Given the description of an element on the screen output the (x, y) to click on. 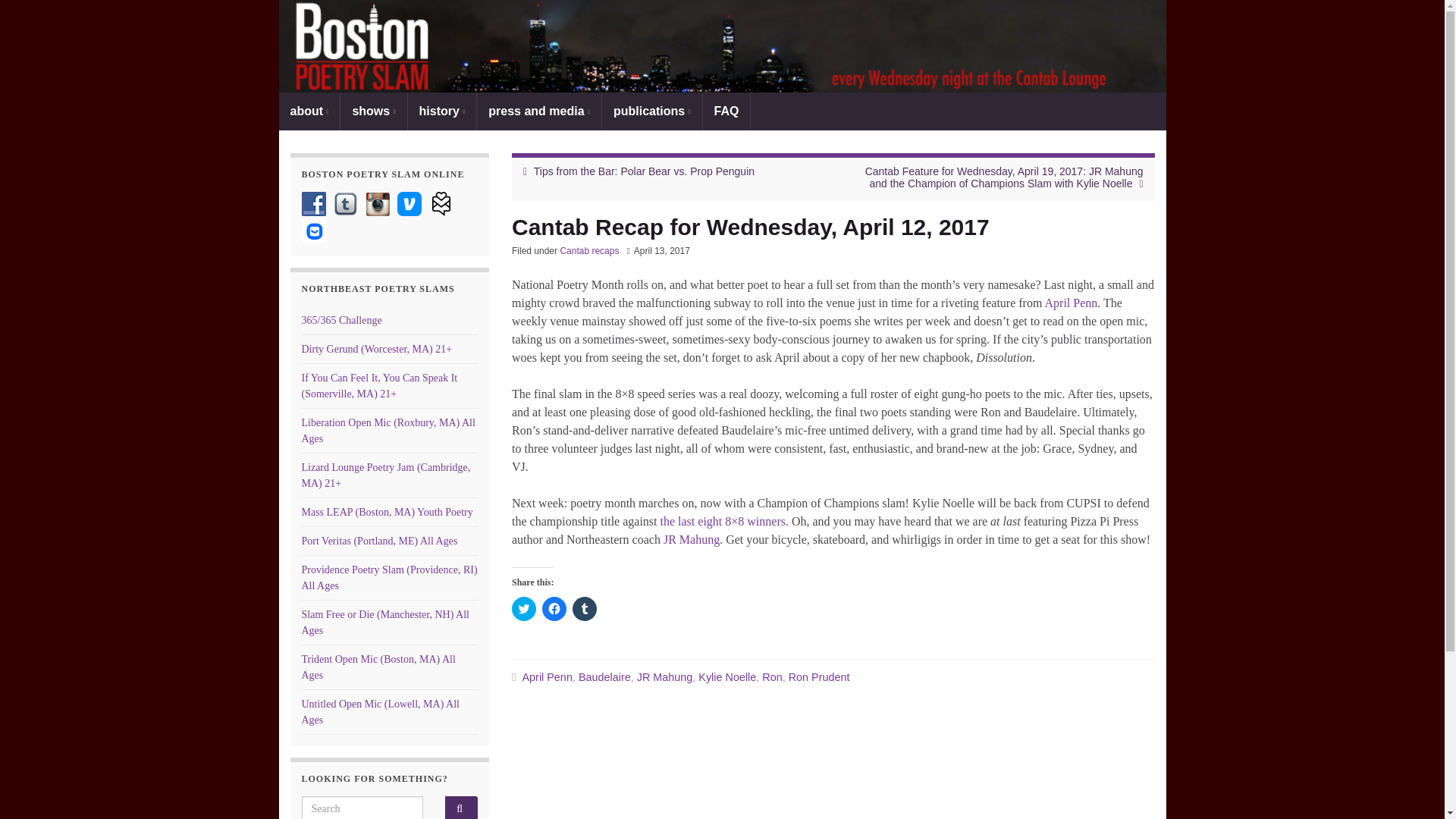
 Current Newsletter! (313, 230)
Click to share on Facebook (553, 608)
 Tumblr (345, 203)
 Venmo (409, 203)
history (442, 111)
2017-04-13T14:23:20-04:00 (661, 250)
Click to share on Twitter (523, 608)
 Facebook (313, 203)
shows (373, 111)
 Old Newsletter! (440, 203)
 Instagram (377, 203)
The daily writing blog run by the Cantab Open Mic community. (341, 319)
Click to share on Tumblr (584, 608)
about (309, 111)
